Given the description of an element on the screen output the (x, y) to click on. 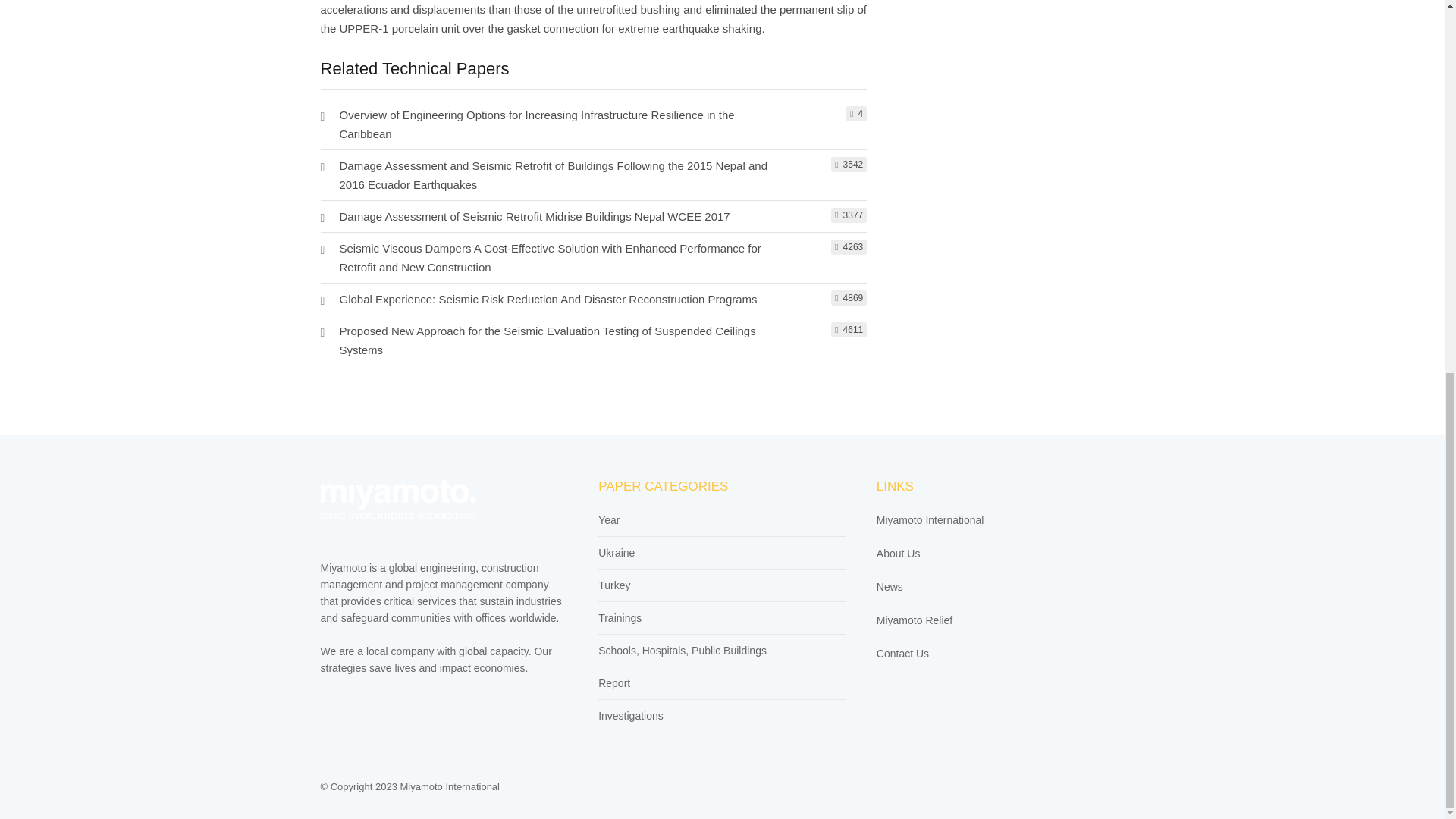
News (889, 586)
Miyamoto Relief (914, 620)
Trainings (620, 617)
Report (614, 683)
Turkey (614, 585)
Contact Us (902, 653)
